Given the description of an element on the screen output the (x, y) to click on. 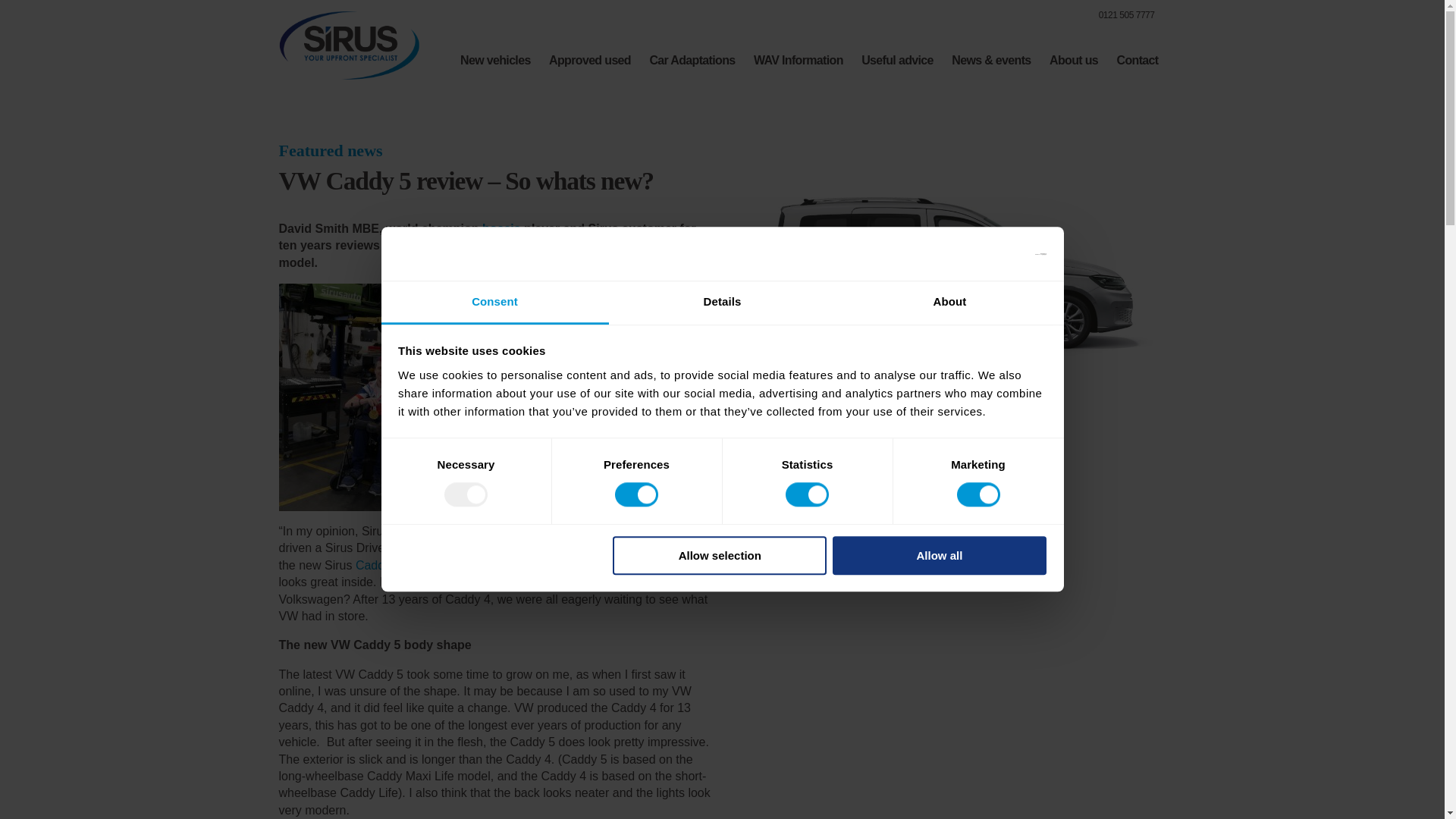
Allow all (939, 555)
Details (721, 302)
Allow selection (719, 555)
0121 505 7777 (1115, 15)
Consent (494, 302)
About (948, 302)
